Given the description of an element on the screen output the (x, y) to click on. 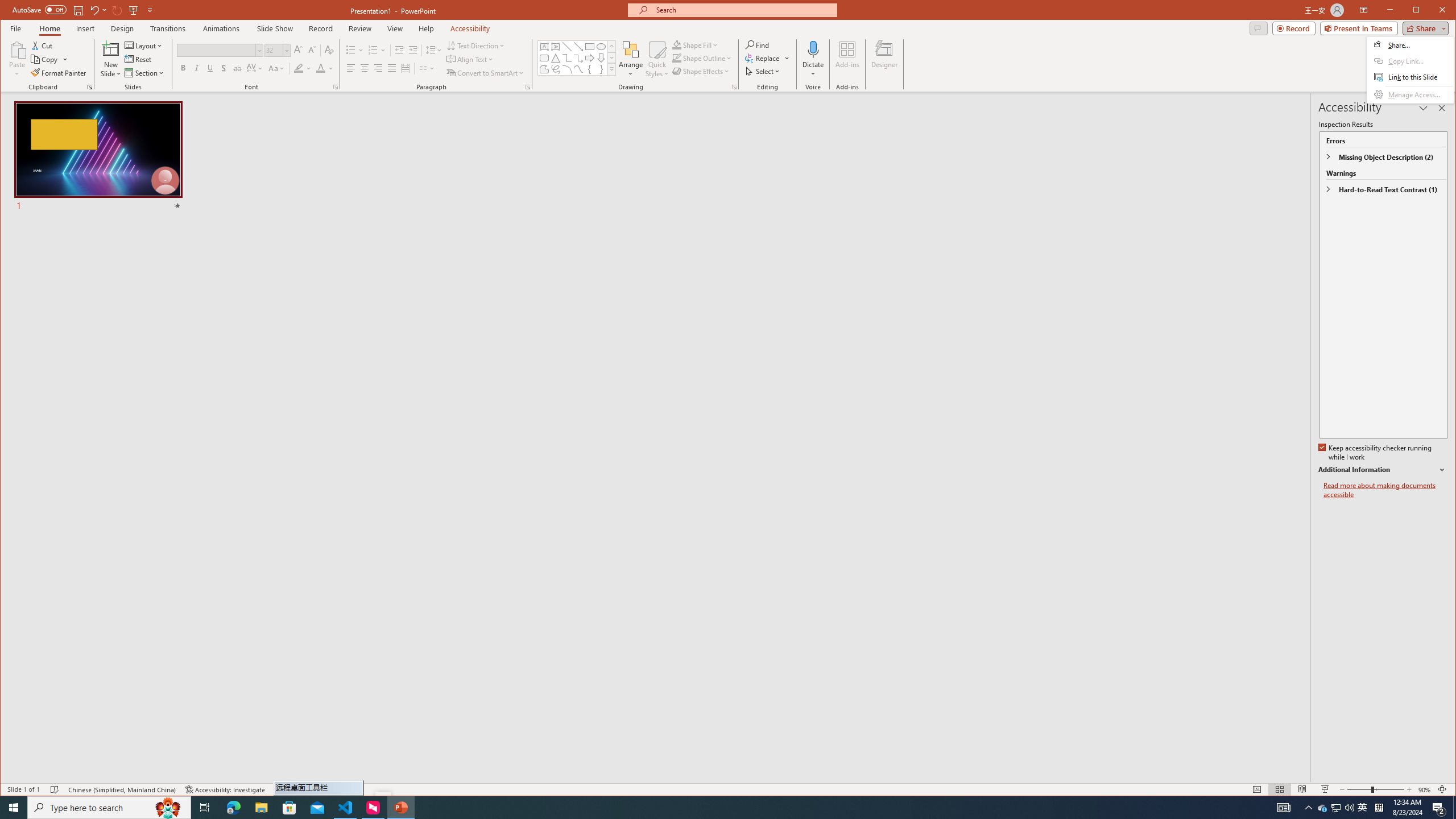
Rectangle: Rounded Corners (544, 57)
Text Highlight Color (302, 68)
Paragraph... (527, 86)
Curve (1362, 807)
Format Painter (577, 69)
Clear Formatting (59, 72)
Text Box (328, 49)
